Given the description of an element on the screen output the (x, y) to click on. 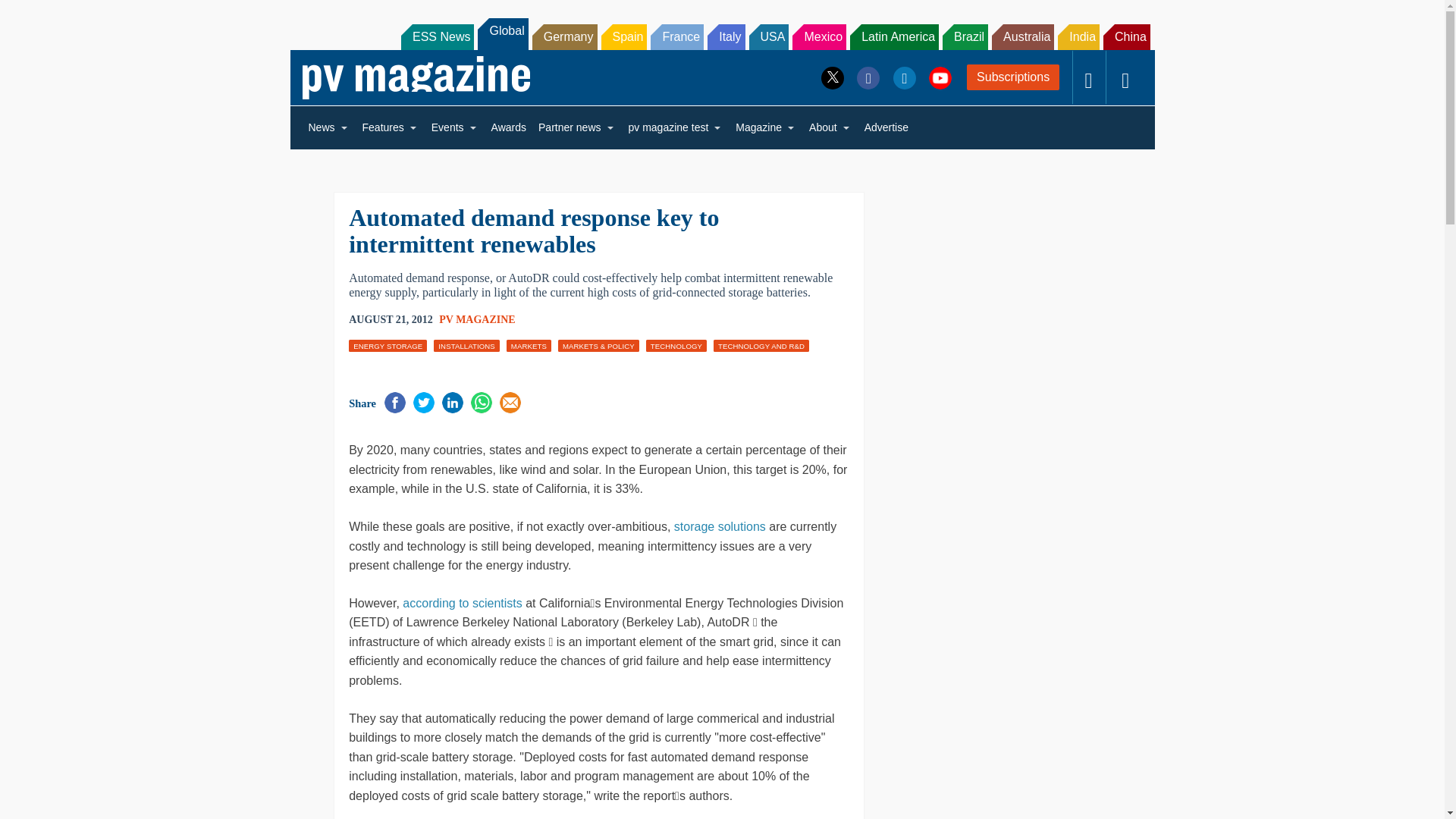
India (1078, 36)
Latin America (894, 36)
pv magazine - Photovoltaics Markets and Technology (415, 77)
Global (502, 33)
pv magazine - Photovoltaics Markets and Technology (415, 77)
Italy (725, 36)
ESS News (437, 36)
Tuesday, August 21, 2012, 12:00 am (390, 320)
France (676, 36)
Spain (622, 36)
